Given the description of an element on the screen output the (x, y) to click on. 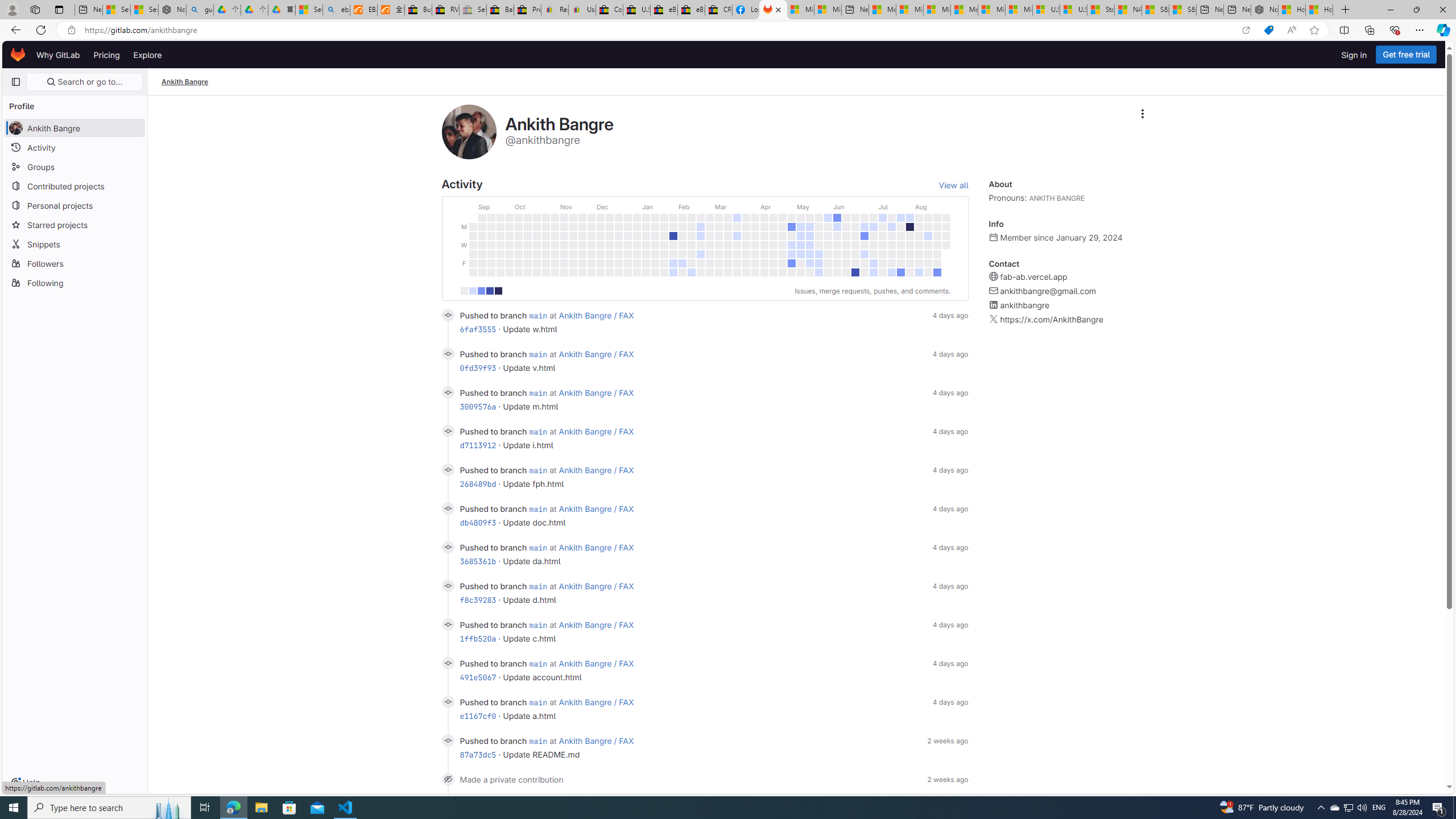
Help (25, 782)
Consumer Health Data Privacy Policy - eBay Inc. (609, 9)
